Given the description of an element on the screen output the (x, y) to click on. 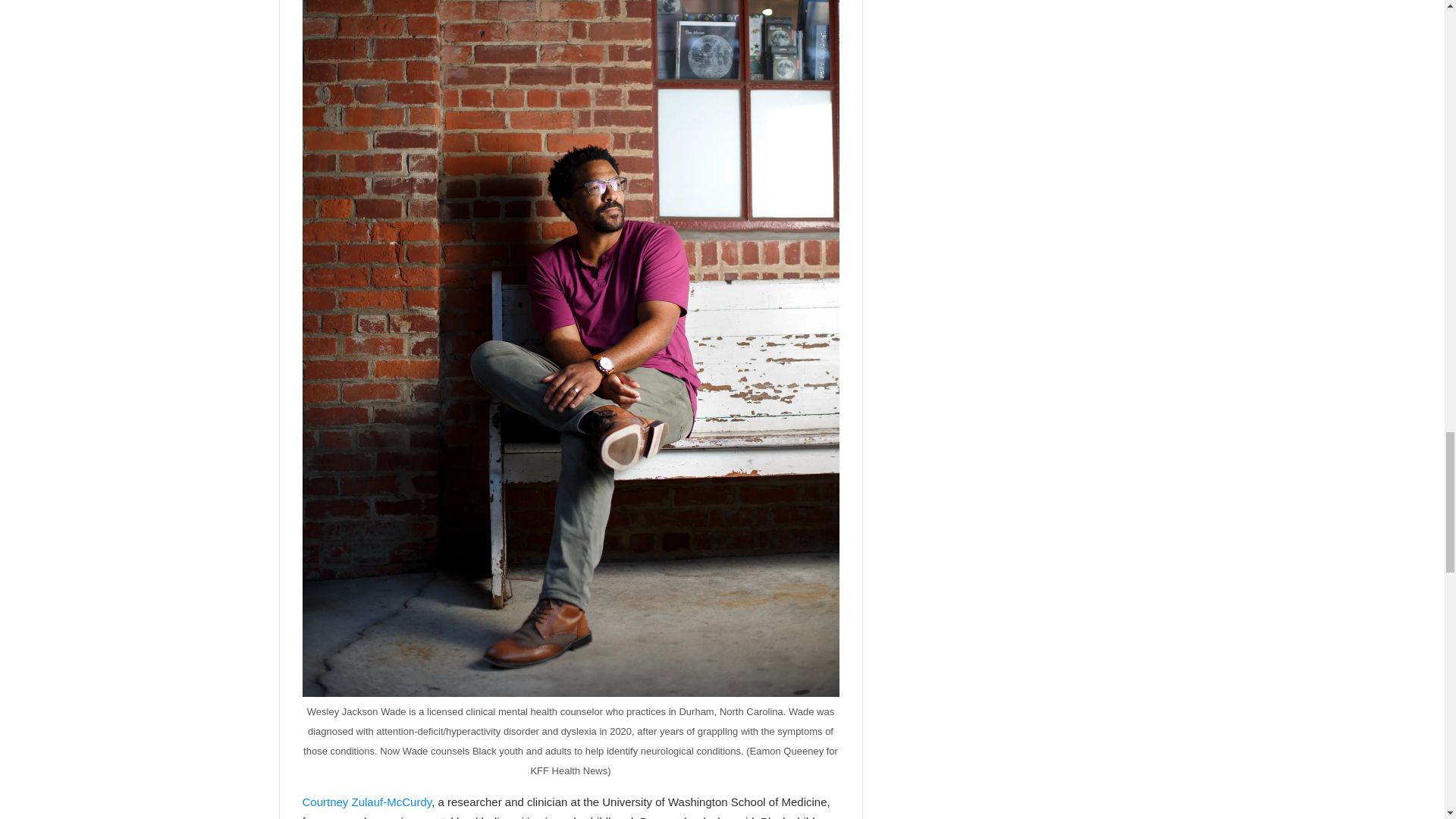
Courtney Zulauf-McCurdy (365, 801)
